Given the description of an element on the screen output the (x, y) to click on. 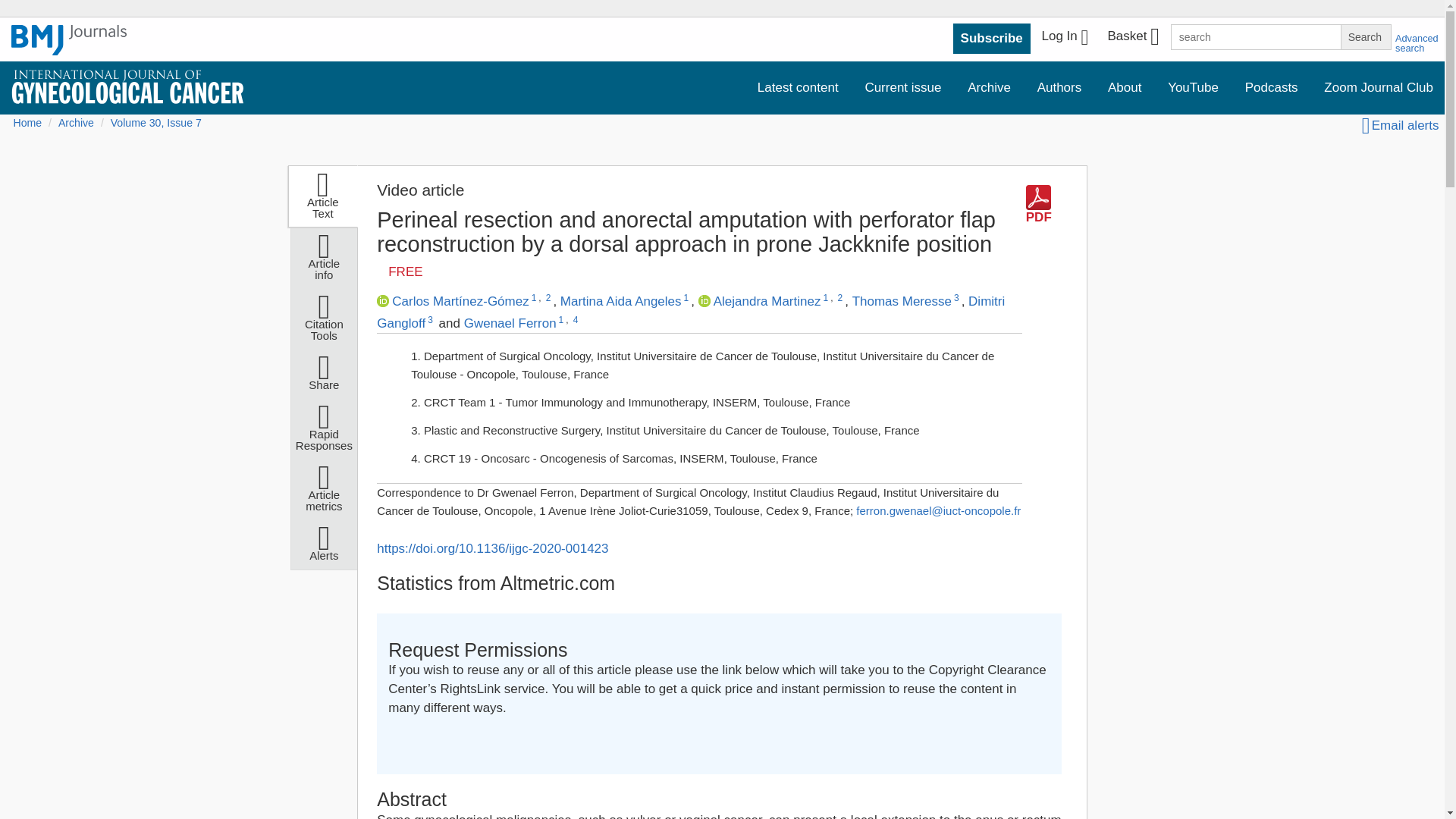
Basket (1132, 38)
Search (1364, 36)
Podcasts (1270, 87)
Log In (1064, 38)
Authors (1059, 87)
Latest content (797, 87)
BMJ Journals (68, 40)
You have access (405, 271)
Advanced search (1416, 43)
